Given the description of an element on the screen output the (x, y) to click on. 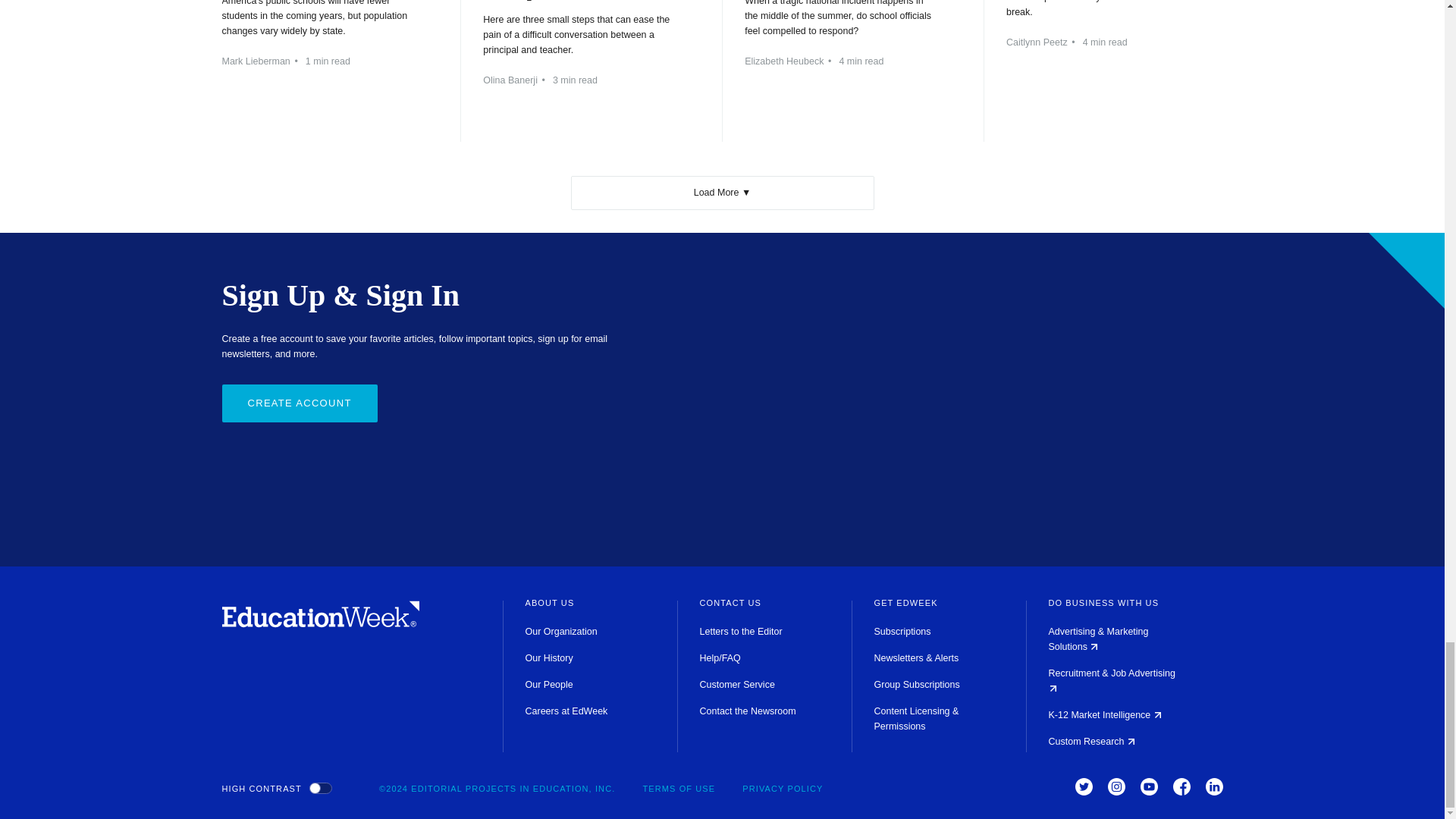
Homepage (320, 623)
